Given the description of an element on the screen output the (x, y) to click on. 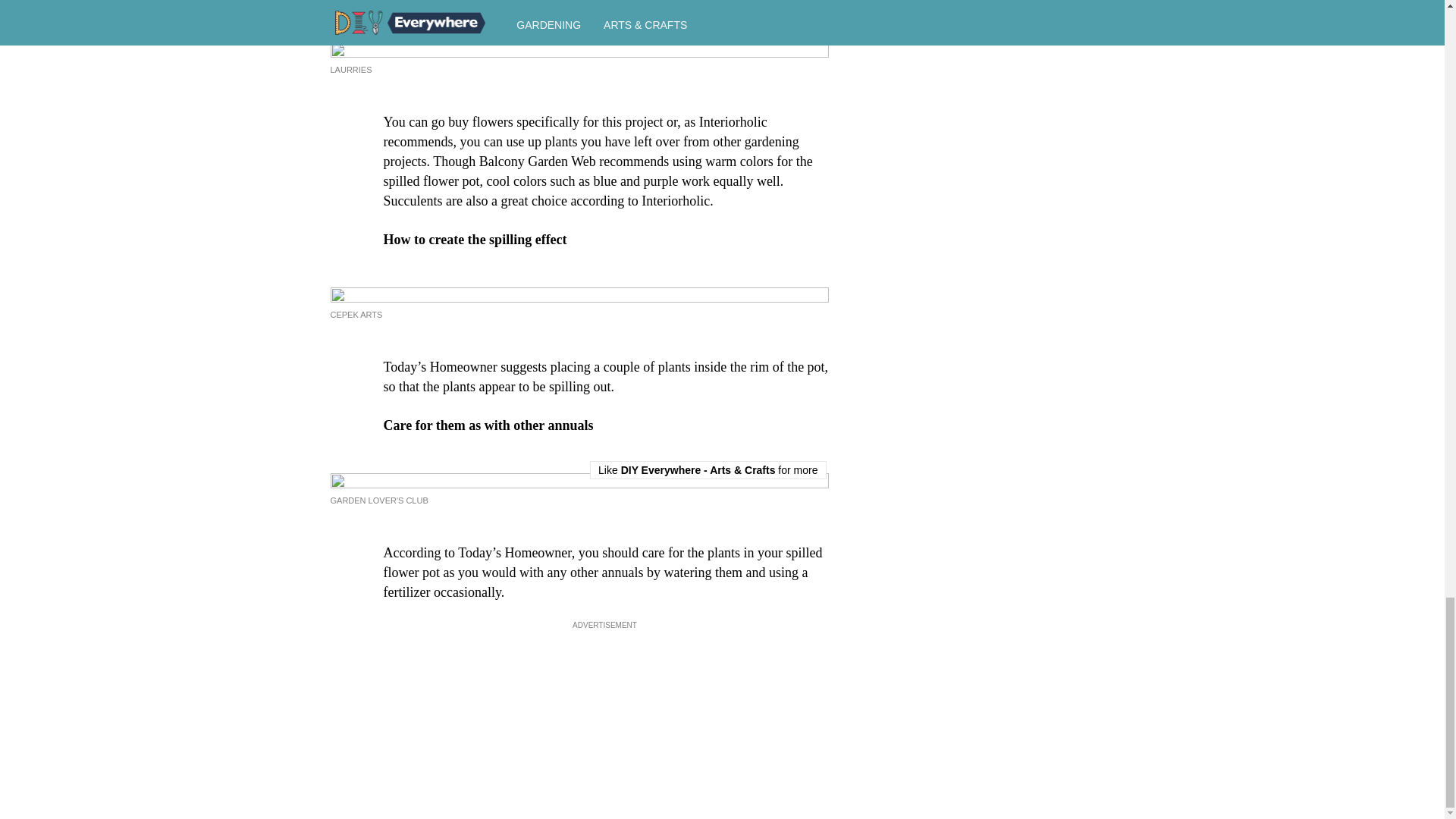
LAURRIES (351, 69)
GARDEN LOVER'S CLUB (379, 500)
CEPEK ARTS (356, 314)
